Given the description of an element on the screen output the (x, y) to click on. 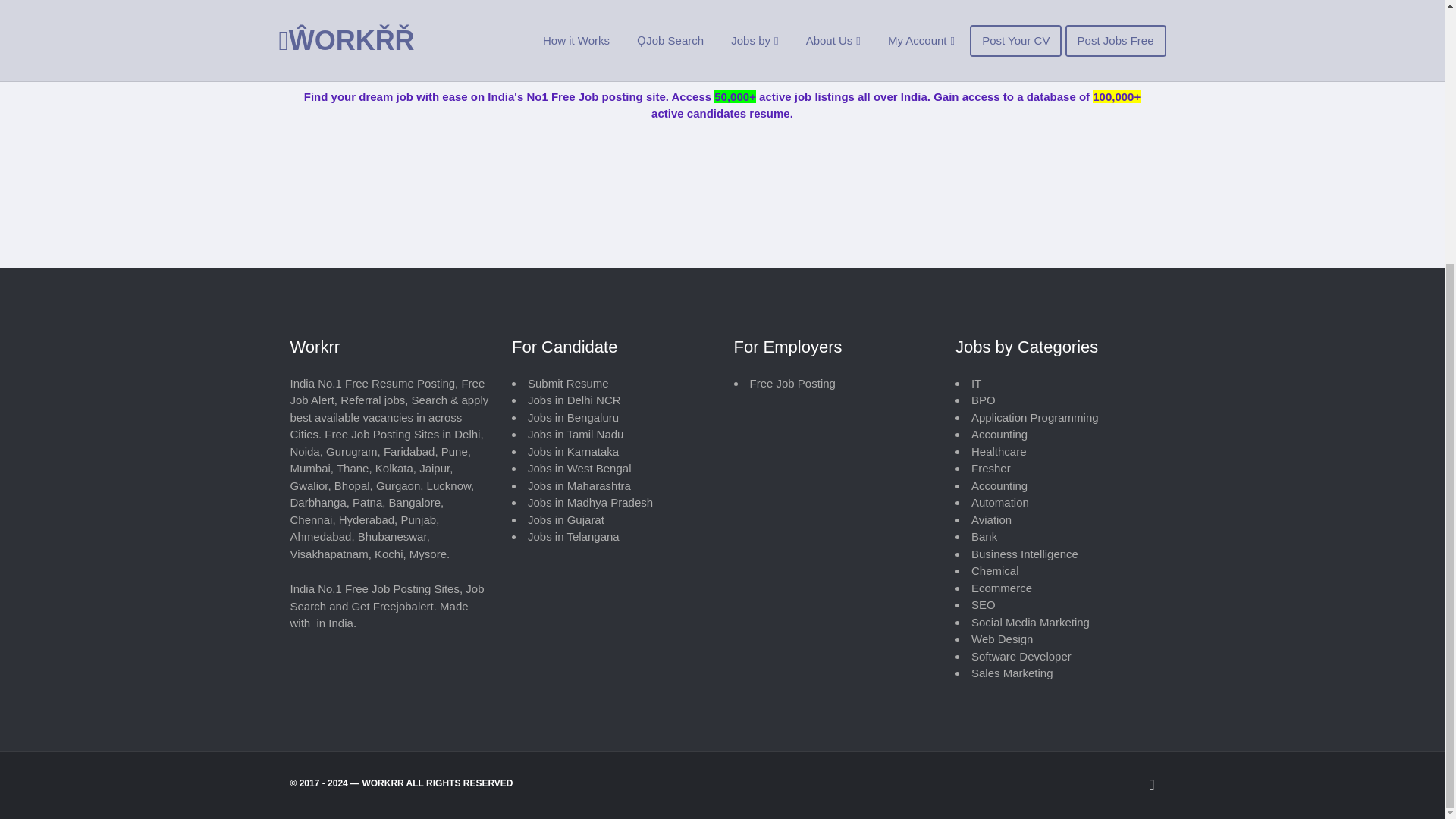
BPO (983, 399)
Automation (1000, 502)
Accounting (999, 485)
Jobs in West Bengal (578, 468)
Jobs in Tamil Nadu (575, 433)
Jobs in Bengaluru (572, 417)
